Given the description of an element on the screen output the (x, y) to click on. 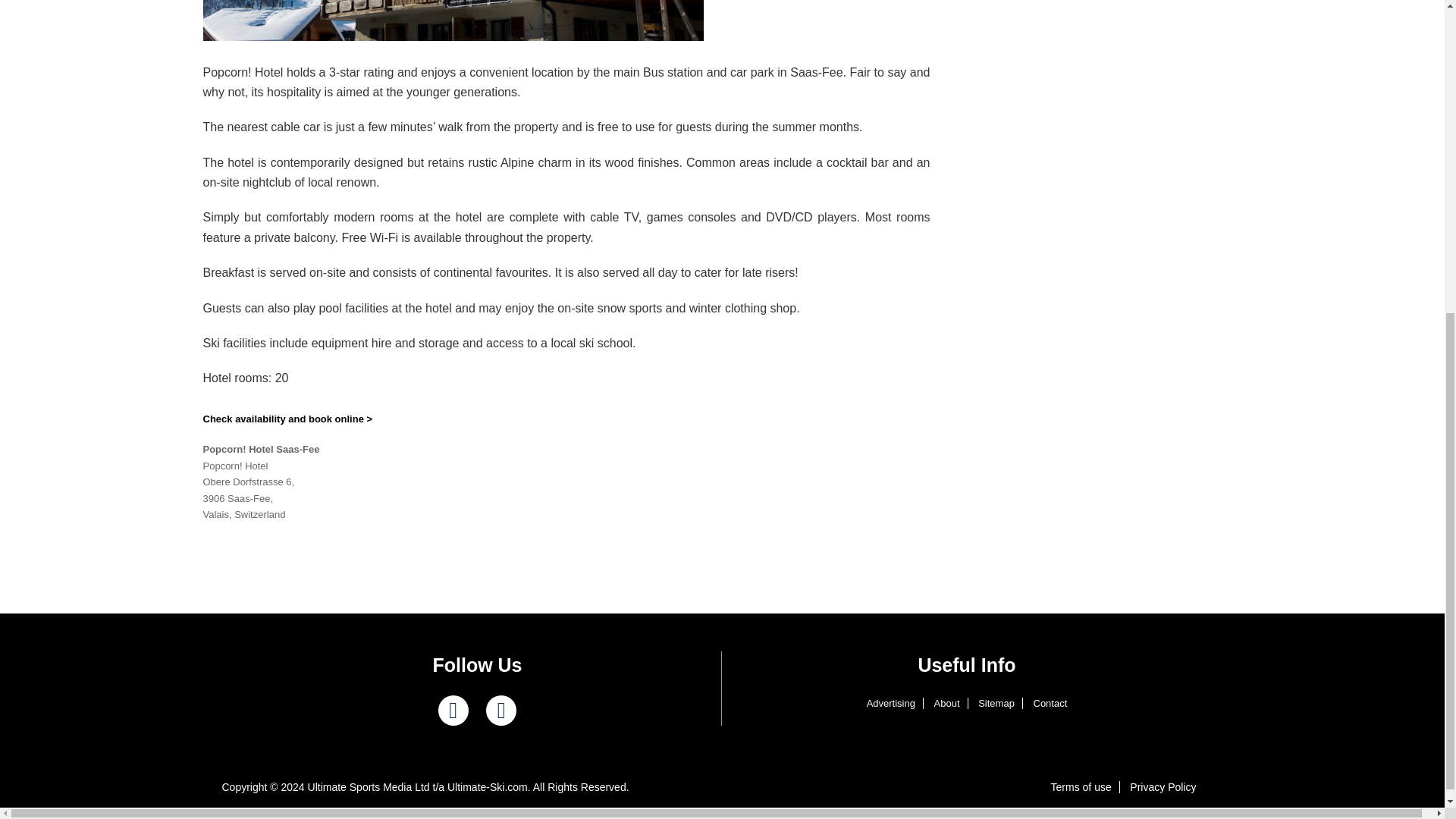
Contact (1049, 703)
Privacy Policy (1163, 787)
Sitemap (997, 703)
About (947, 703)
Advertising (891, 703)
Terms of use (1081, 787)
